Given the description of an element on the screen output the (x, y) to click on. 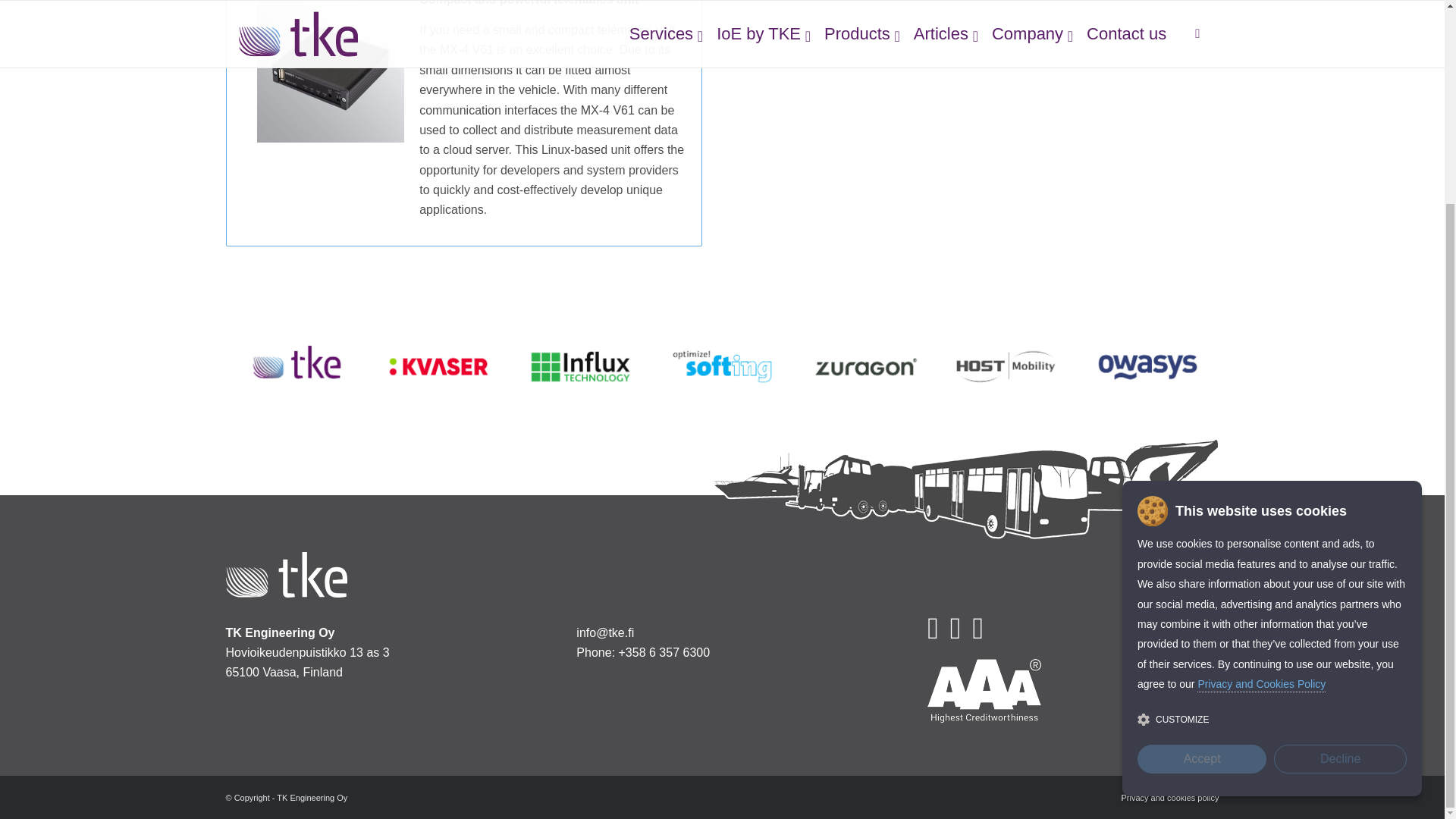
Highest creditworthiness (984, 690)
tke-logo-white (286, 574)
